Given the description of an element on the screen output the (x, y) to click on. 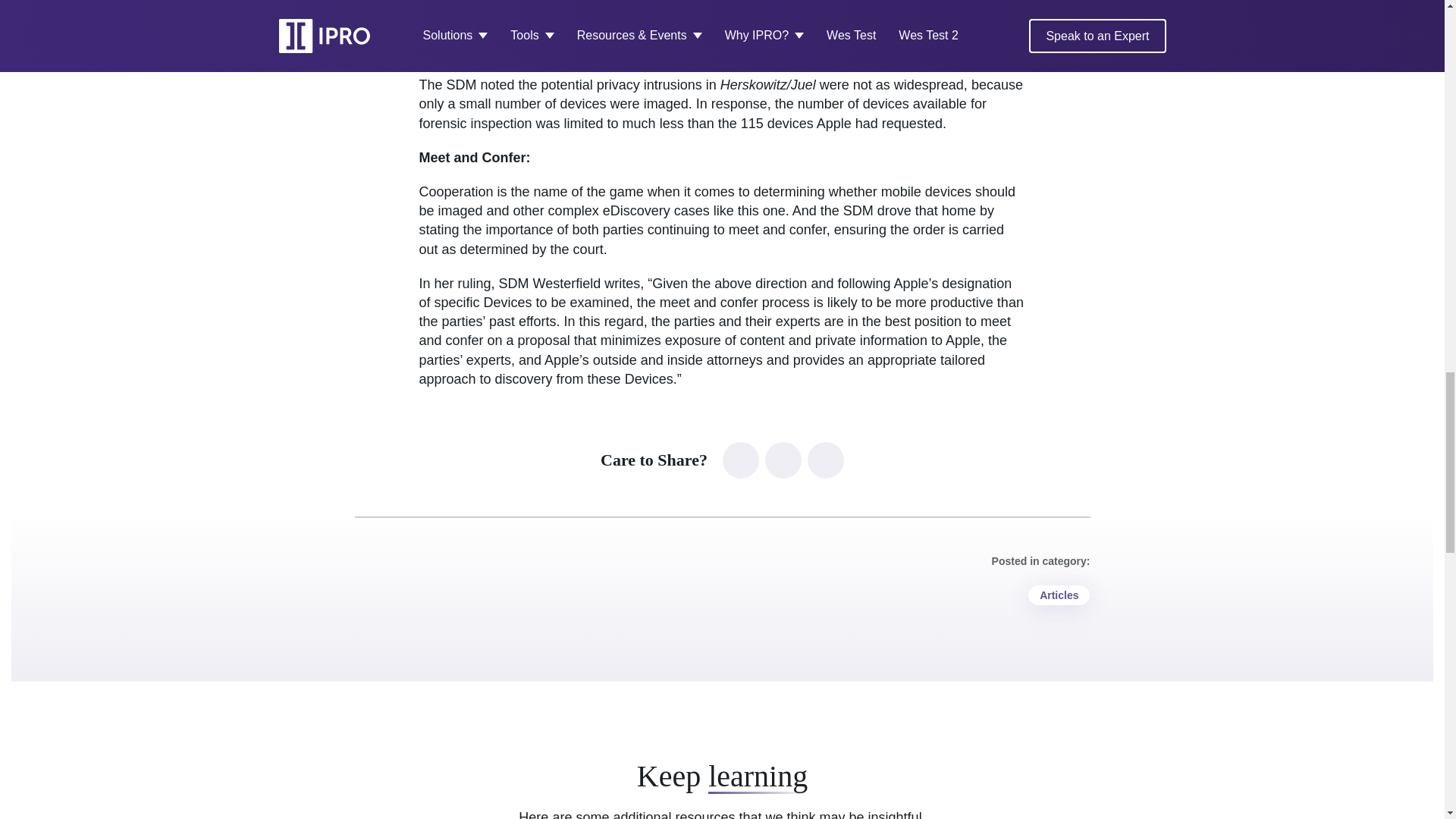
Copy link to clipboard (826, 460)
Share on Twitter (783, 460)
Share on LinkedIn (740, 460)
